Given the description of an element on the screen output the (x, y) to click on. 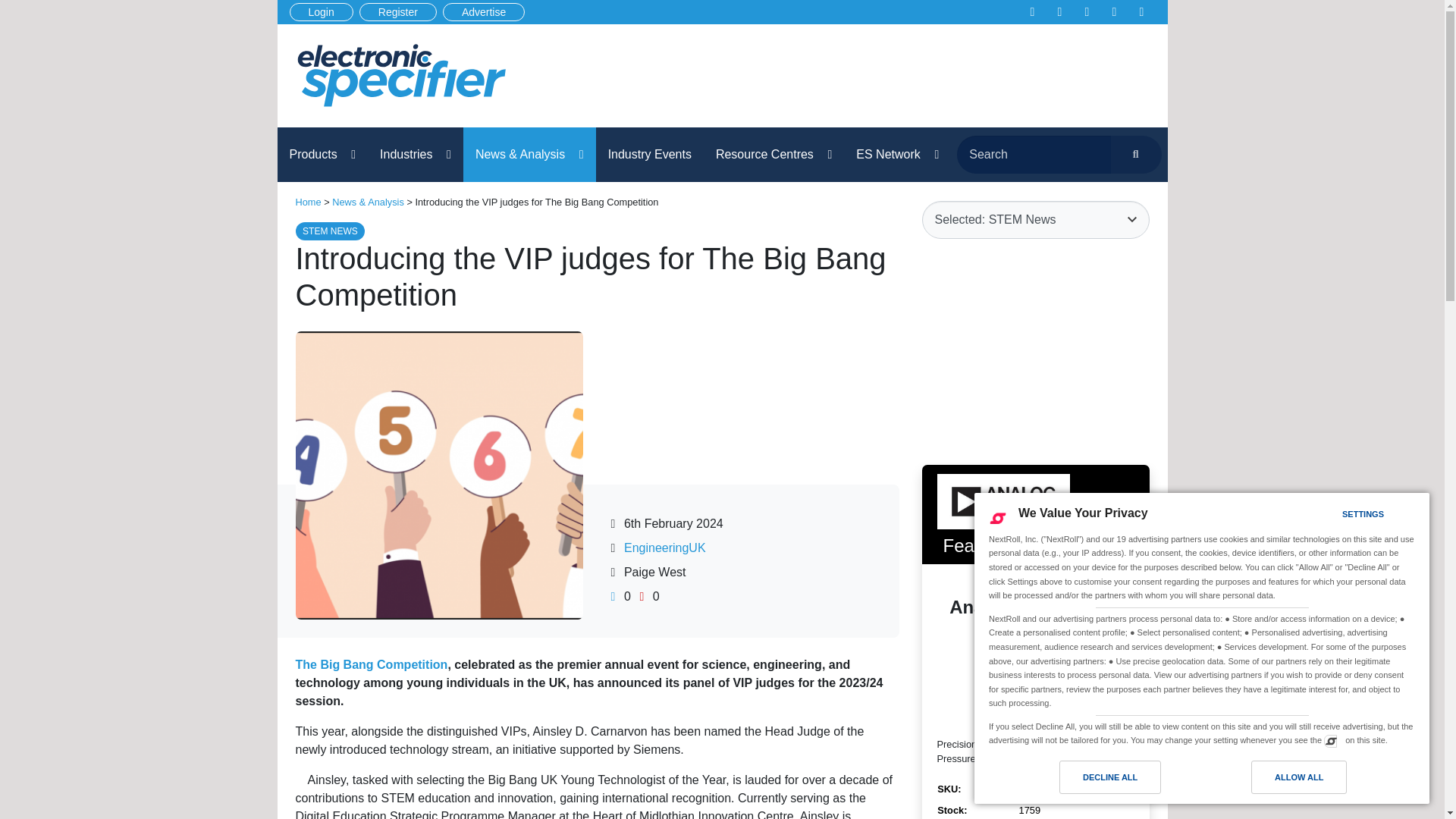
Products (323, 154)
Manage consent preferences (1330, 740)
Advertise (483, 12)
Introducing the VIP judges for The Big Bang Competition (401, 75)
Login (321, 12)
Register (397, 12)
